Given the description of an element on the screen output the (x, y) to click on. 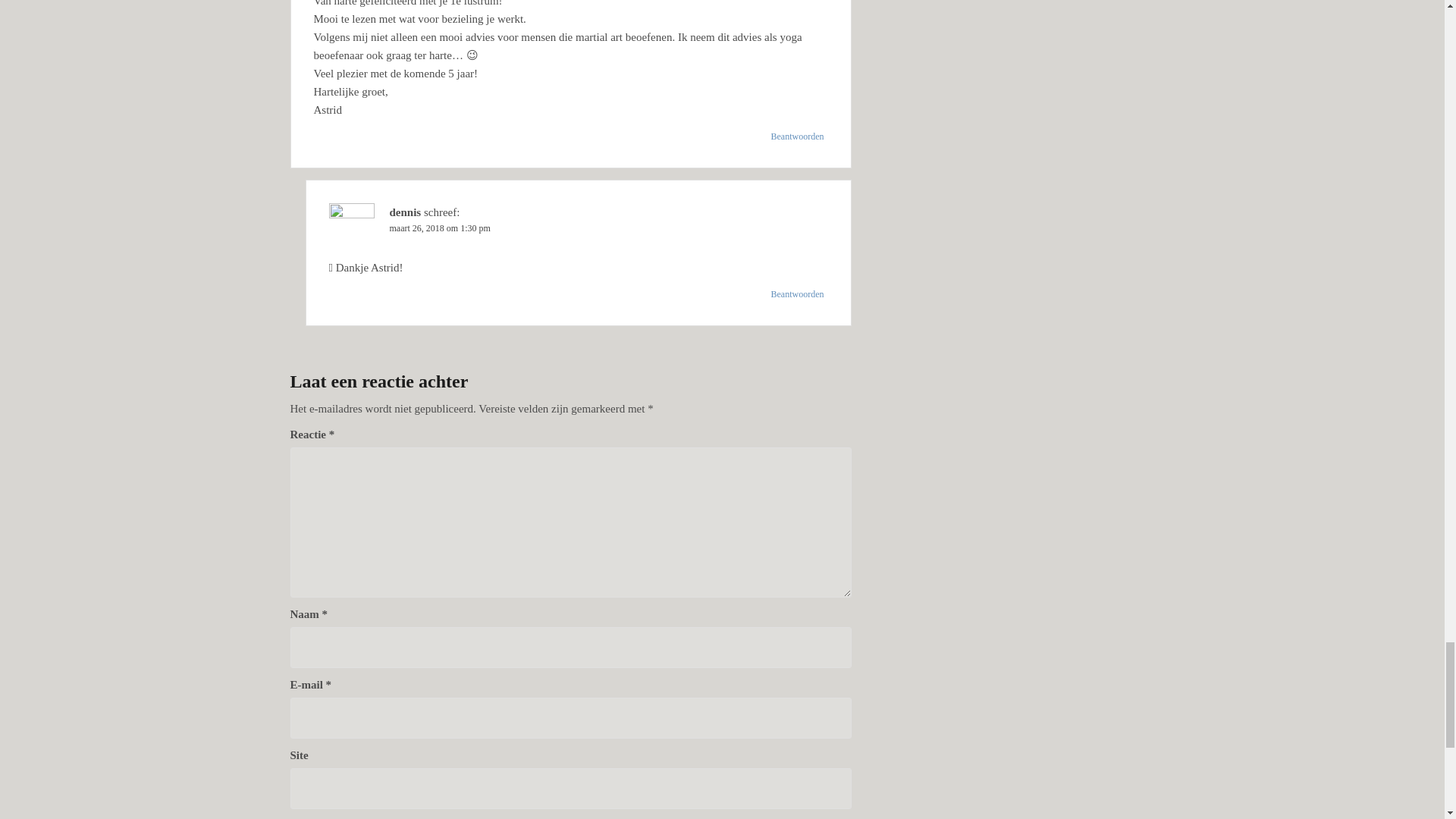
maart 26, 2018 om 1:30 pm (440, 227)
Beantwoorden (797, 294)
Beantwoorden (797, 136)
